Given the description of an element on the screen output the (x, y) to click on. 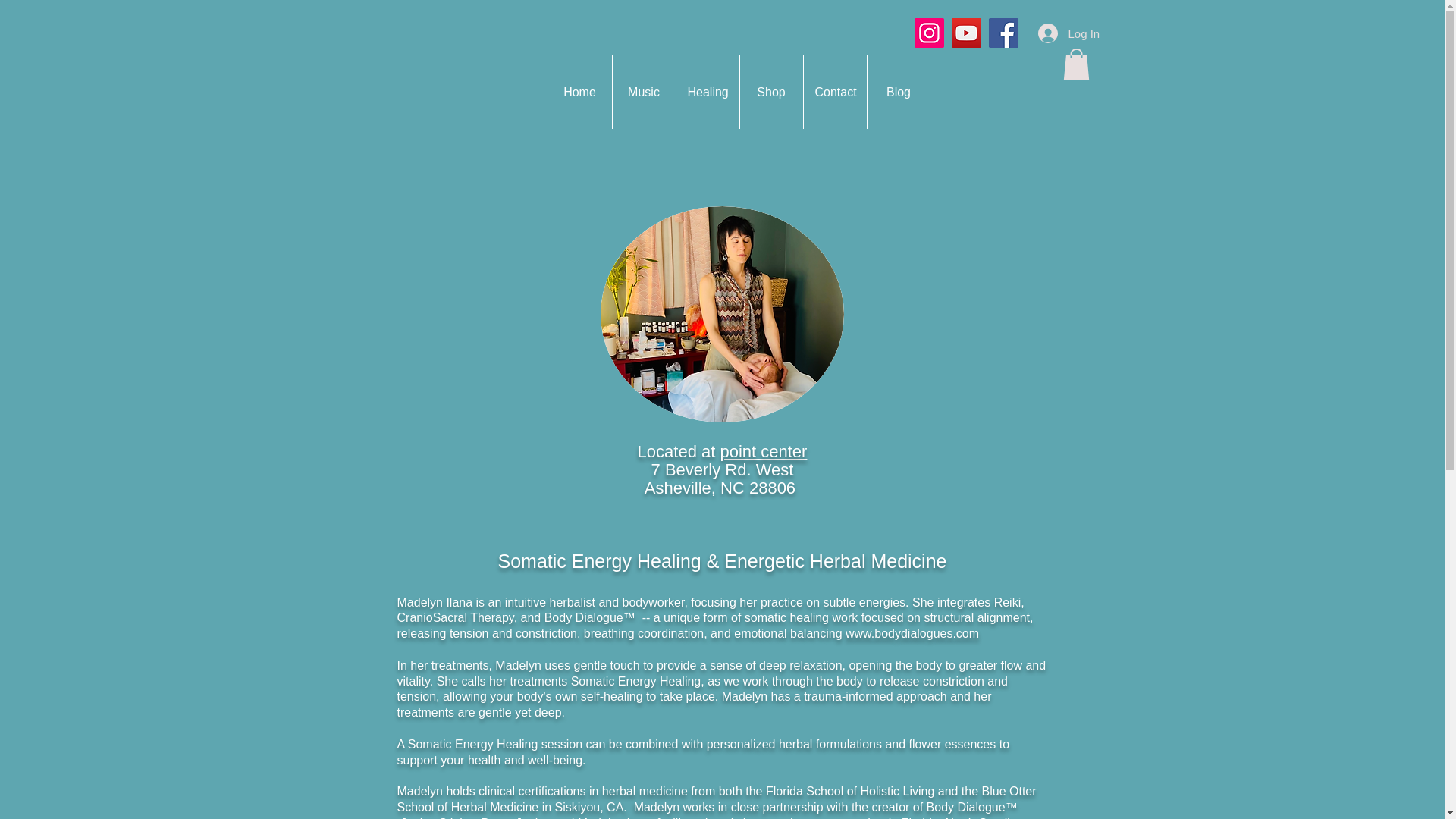
www.bodydialogues.com (911, 633)
Log In (1057, 32)
point center (762, 451)
